Given the description of an element on the screen output the (x, y) to click on. 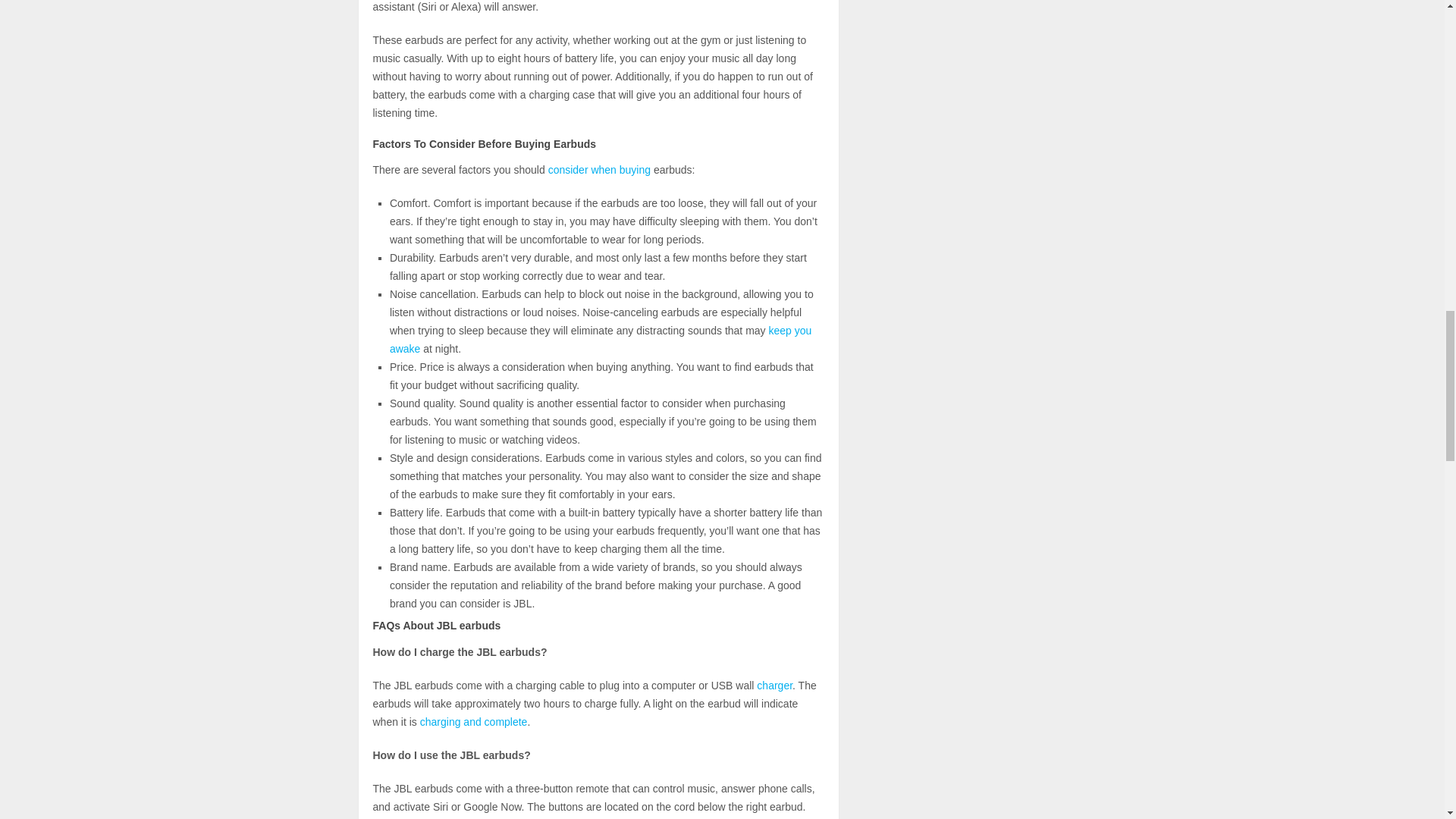
charger (774, 685)
keep you awake (600, 339)
consider when buying (599, 169)
charging and complete (473, 721)
